Given the description of an element on the screen output the (x, y) to click on. 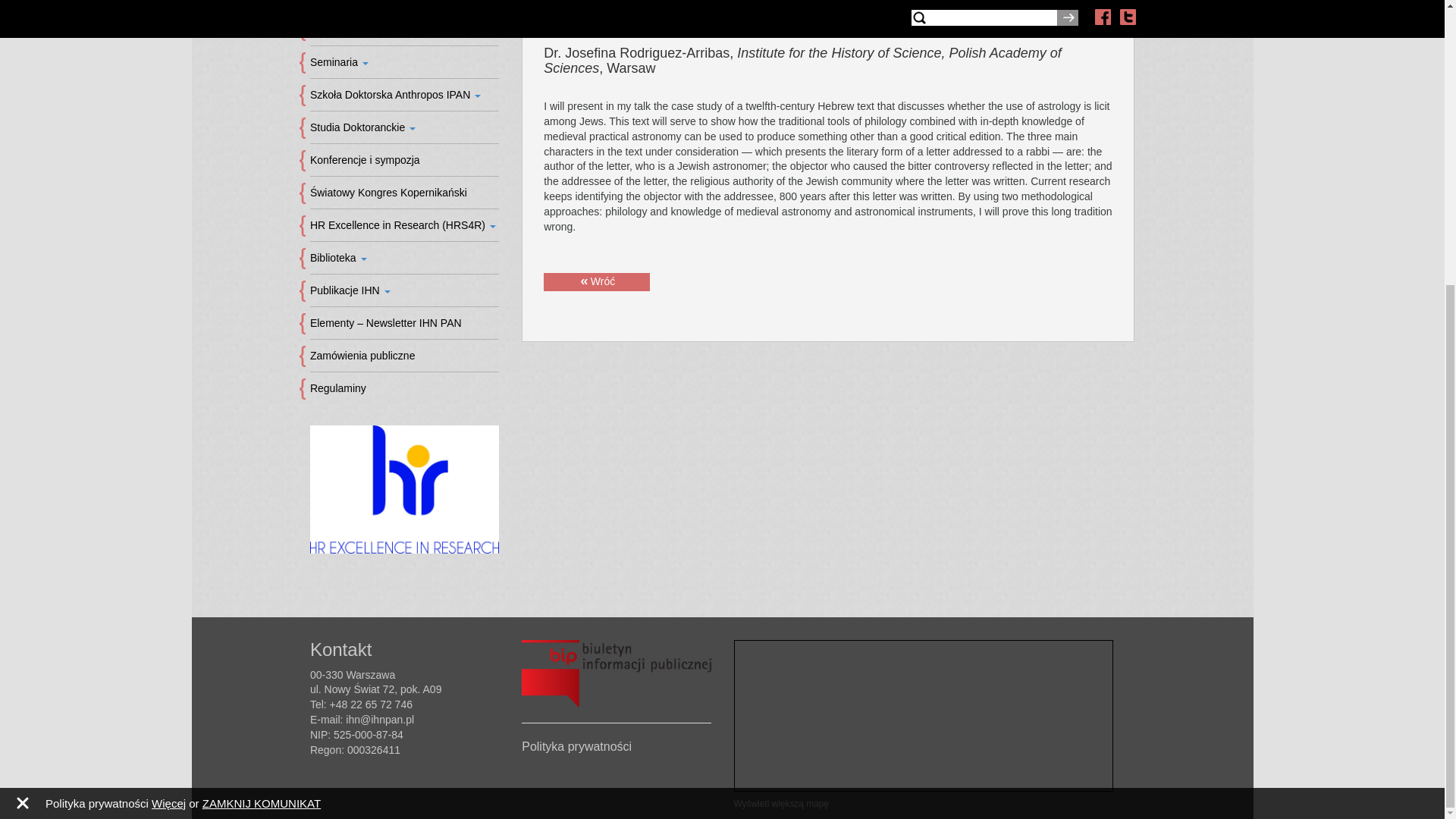
Seminaria (404, 62)
Konkursy (404, 30)
Instytut (404, 6)
